Given the description of an element on the screen output the (x, y) to click on. 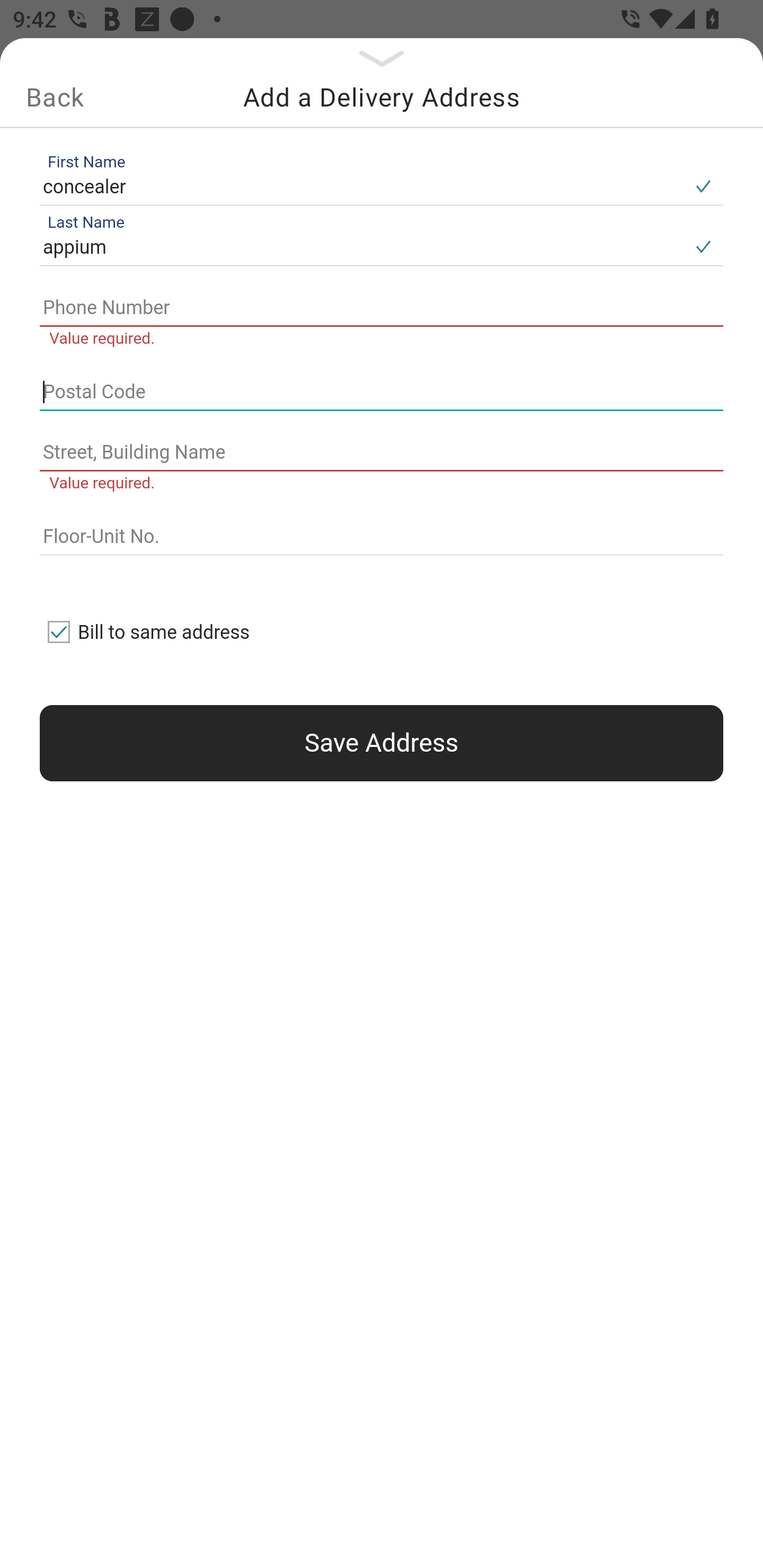
Back (54, 96)
Add a Delivery Address (381, 96)
concealer (361, 186)
appium (361, 247)
Save Address (381, 742)
